Given the description of an element on the screen output the (x, y) to click on. 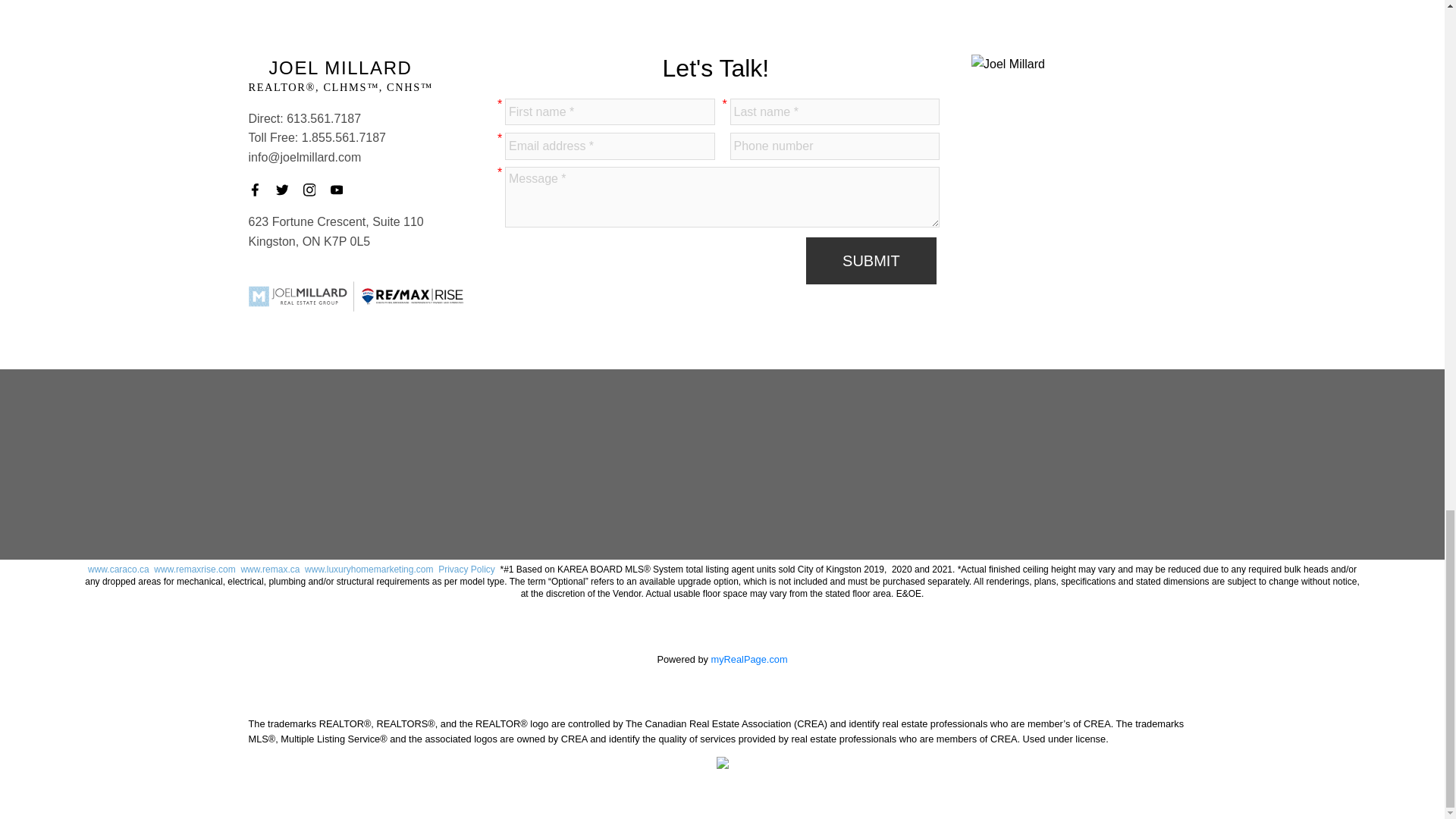
instagram (313, 189)
YouTube (341, 189)
Twitter (286, 189)
Facebook (258, 189)
